Given the description of an element on the screen output the (x, y) to click on. 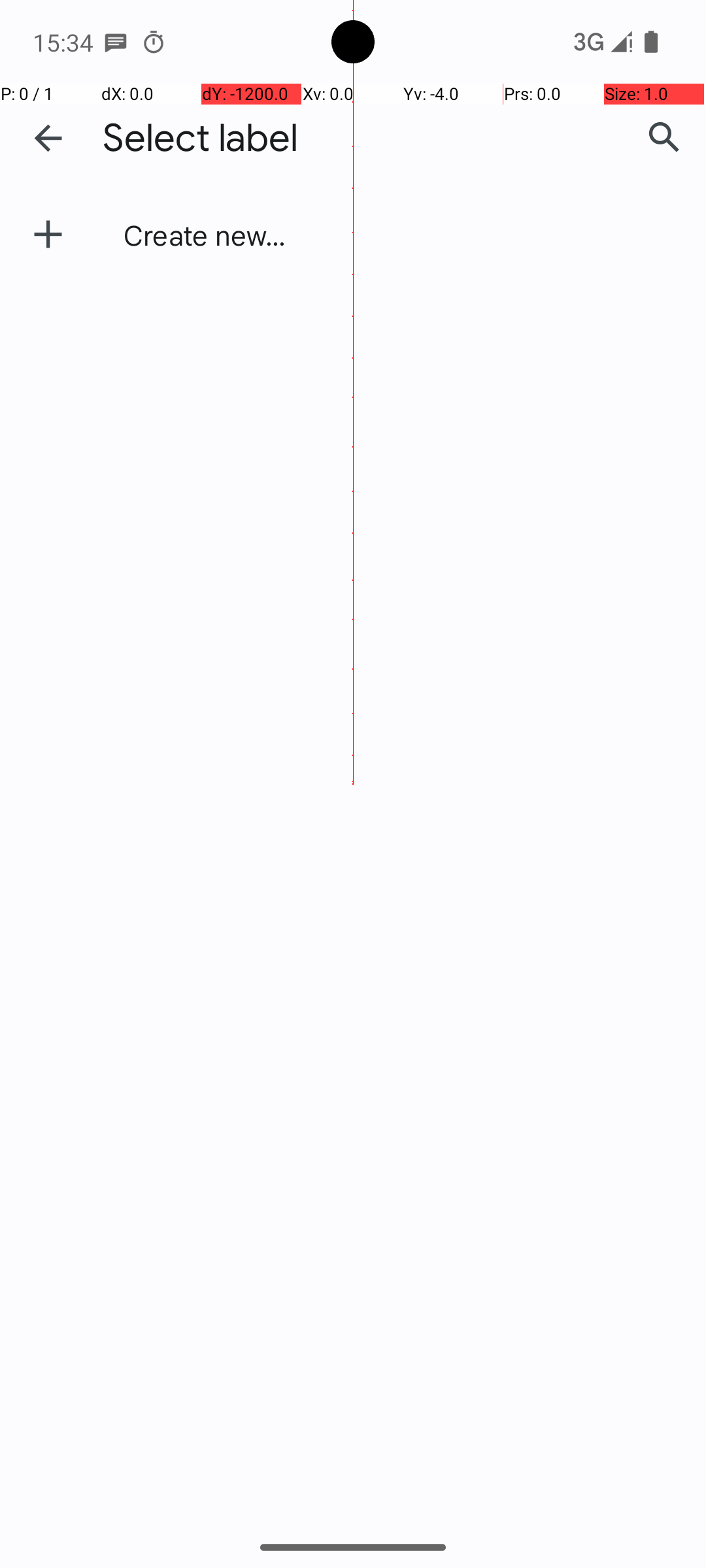
Select label Element type: android.widget.TextView (200, 138)
Search labels Element type: android.widget.Button (664, 137)
Create new… Element type: android.widget.TextView (204, 234)
SMS Messenger notification: Sophie Gonzalez Element type: android.widget.ImageView (115, 41)
